Given the description of an element on the screen output the (x, y) to click on. 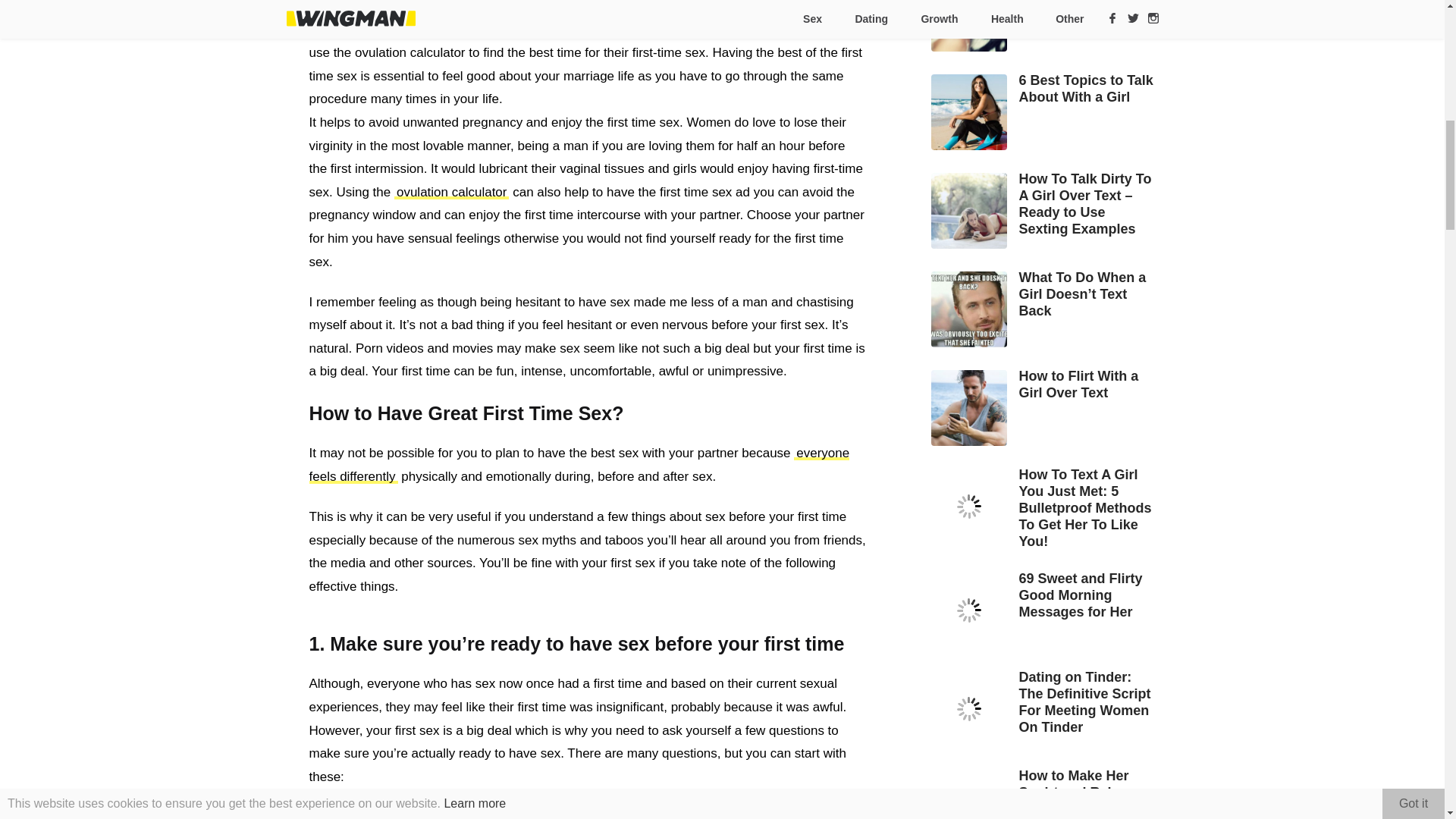
6 Best Topics to Talk About With a Girl (1044, 88)
everyone feels differently (579, 464)
ovulation calculator (451, 192)
How to Make A Woman Orgasm In Under 5 Minutes (1044, 11)
